Given the description of an element on the screen output the (x, y) to click on. 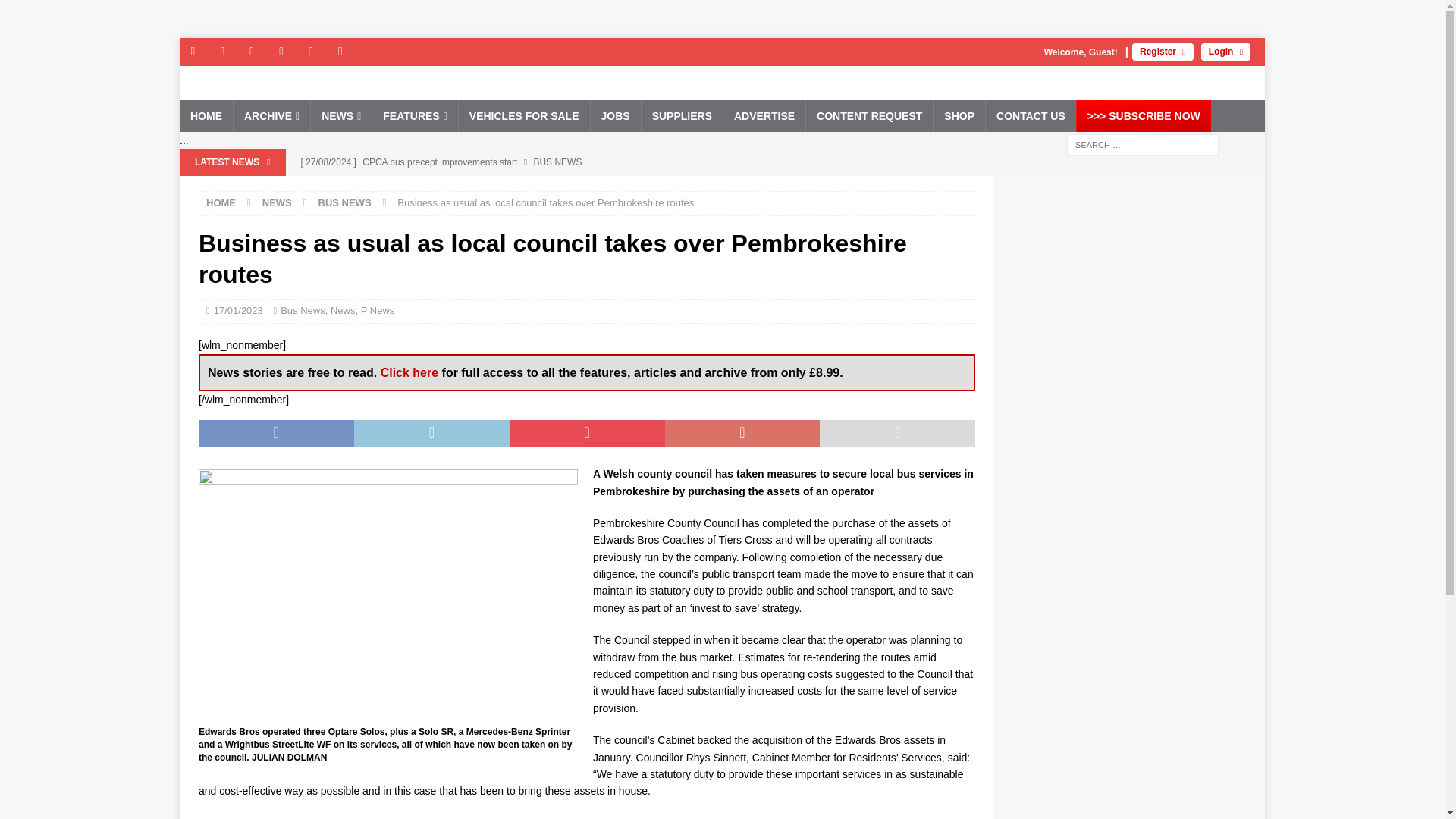
ADVERTISE (763, 115)
VEHICLES FOR SALE (523, 115)
CONTENT REQUEST (869, 115)
CPCA bus precept improvements start (589, 162)
SUPPLIERS (681, 115)
FEATURES (414, 115)
NEWS (340, 115)
Brighton upgrades bus shelters with CCTV (589, 187)
SHOP (959, 115)
CONTACT US (1030, 115)
